Given the description of an element on the screen output the (x, y) to click on. 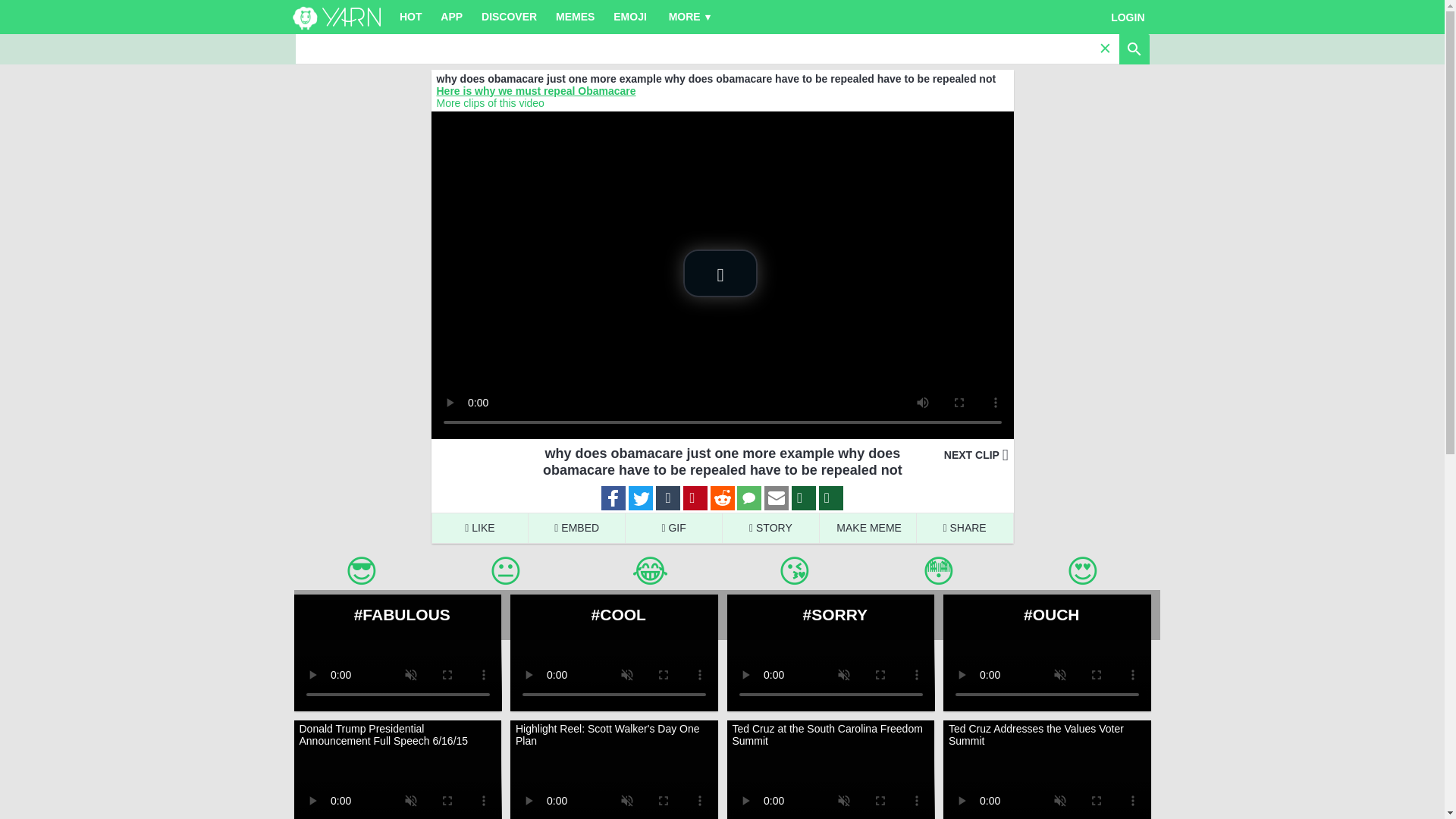
Share on Tumblr (667, 499)
HOT (410, 17)
Search (697, 48)
APP (451, 17)
Share via Text Message (748, 499)
Share on Facebook (613, 499)
LIKE (479, 527)
Share on Reddit (721, 499)
More clips of this video (490, 102)
